Given the description of an element on the screen output the (x, y) to click on. 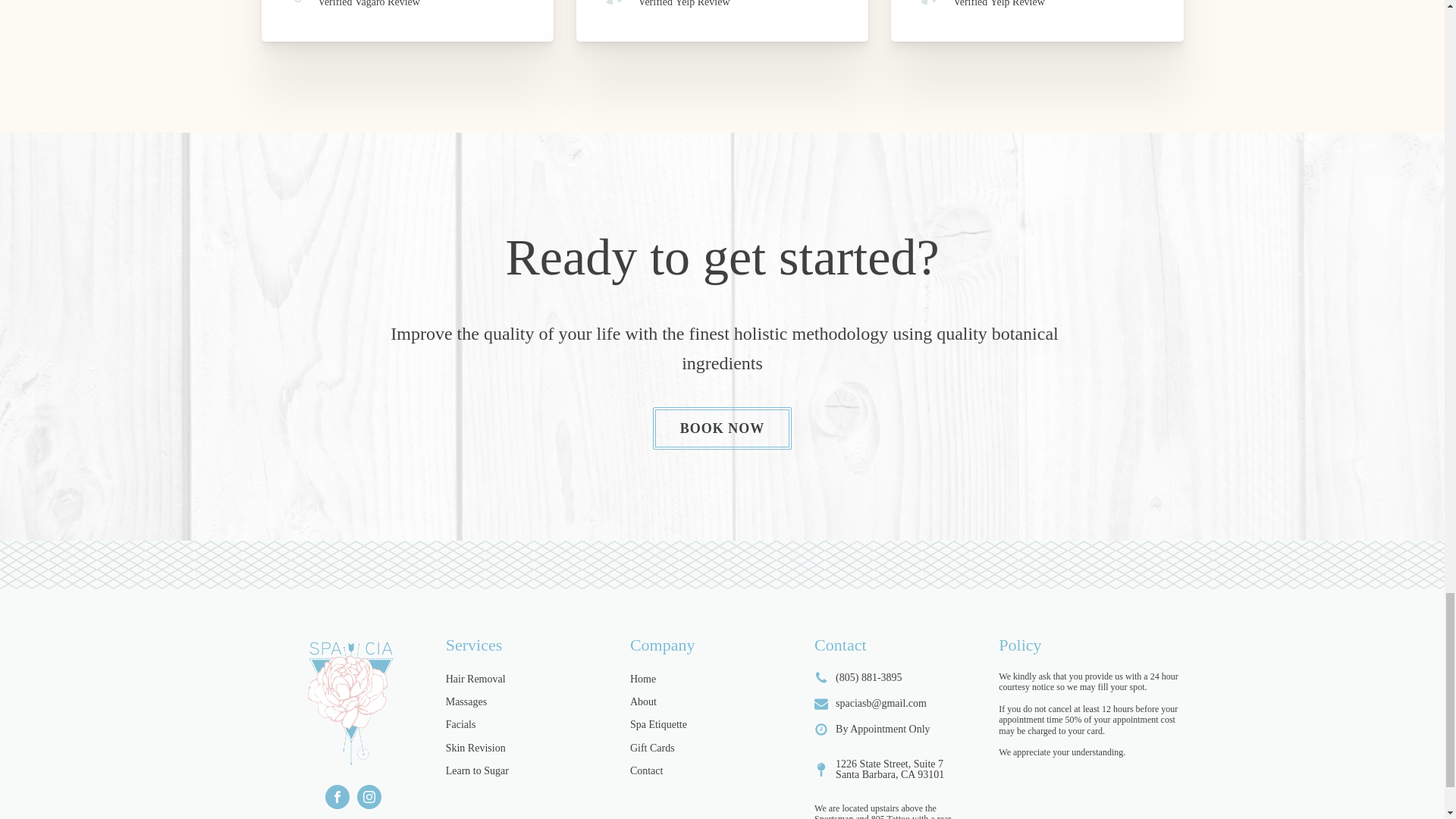
Gift Cards (652, 748)
Contact (646, 770)
About (643, 701)
Massages (465, 701)
Home (643, 678)
Spa Etiquette (658, 724)
Facials (460, 724)
BOOK NOW (722, 428)
Skin Revision (475, 748)
Hair Removal (475, 678)
Learn to Sugar (476, 770)
